Given the description of an element on the screen output the (x, y) to click on. 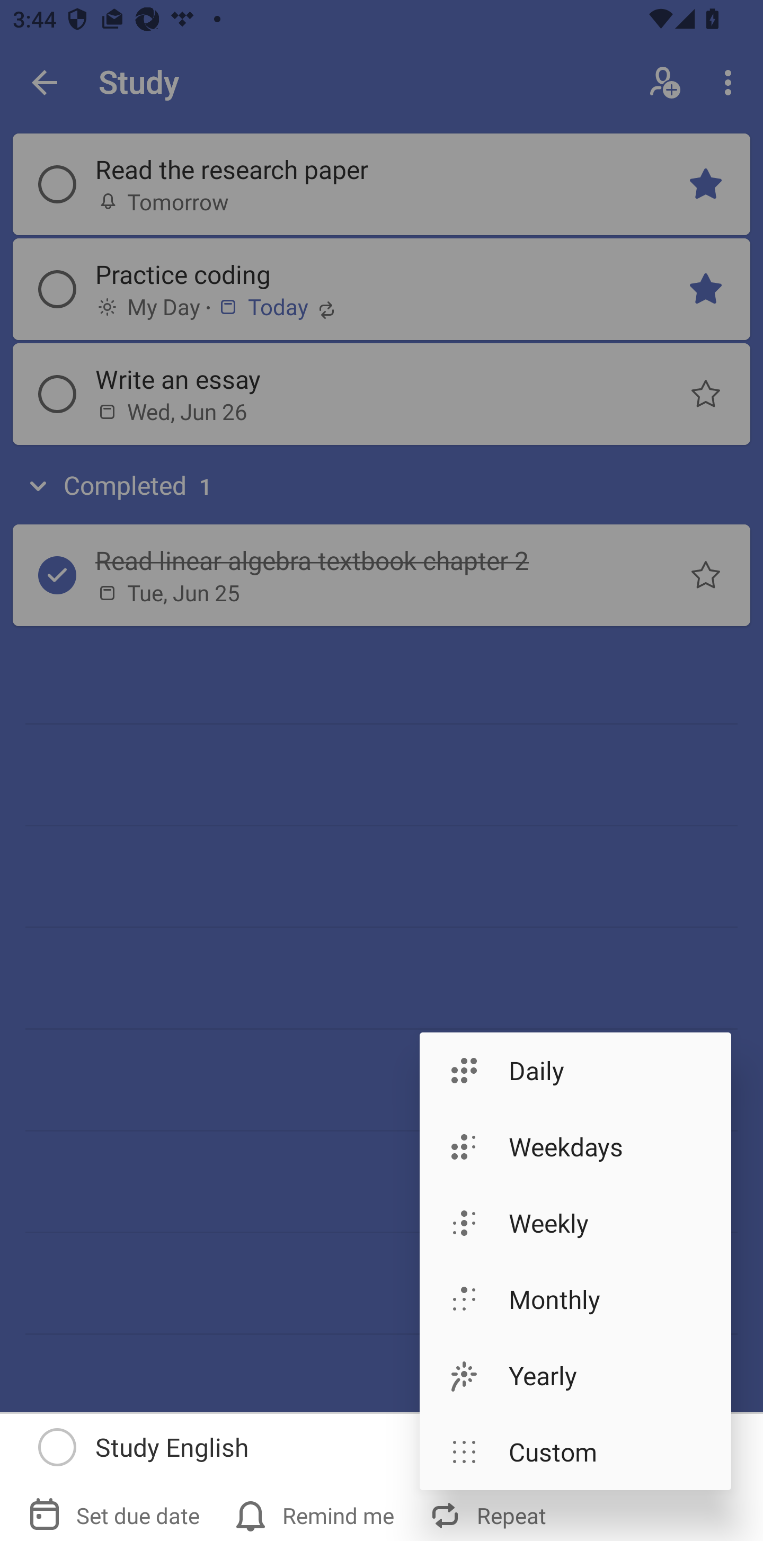
Daily1 in 6 Daily (574, 1069)
